Given the description of an element on the screen output the (x, y) to click on. 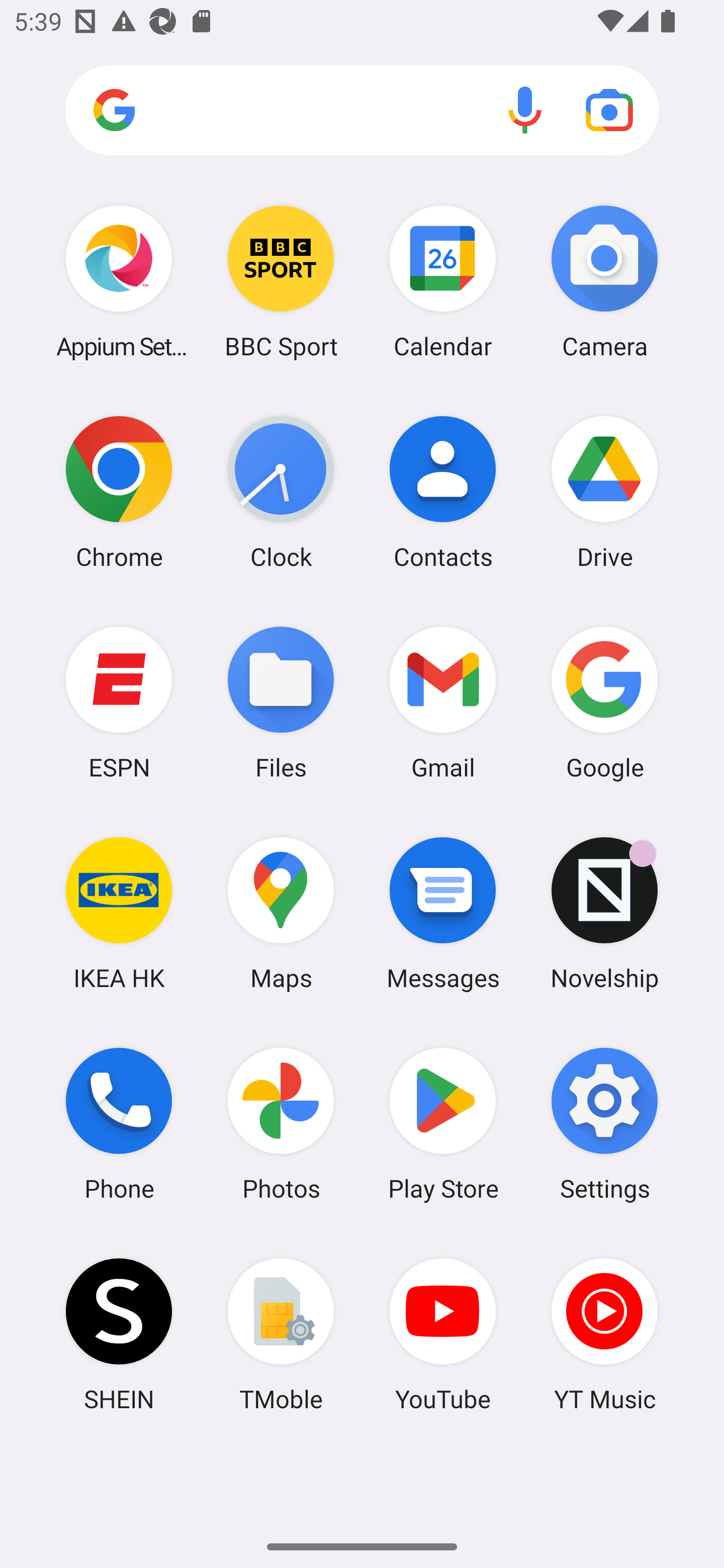
Search apps, web and more (361, 110)
Voice search (524, 109)
Google Lens (608, 109)
Appium Settings (118, 281)
BBC Sport (280, 281)
Calendar (443, 281)
Camera (604, 281)
Chrome (118, 492)
Clock (280, 492)
Contacts (443, 492)
Drive (604, 492)
ESPN (118, 702)
Files (280, 702)
Gmail (443, 702)
Google (604, 702)
IKEA HK (118, 913)
Maps (280, 913)
Messages (443, 913)
Novelship Novelship has 1 notification (604, 913)
Phone (118, 1124)
Photos (280, 1124)
Play Store (443, 1124)
Settings (604, 1124)
SHEIN (118, 1334)
TMoble (280, 1334)
YouTube (443, 1334)
YT Music (604, 1334)
